Given the description of an element on the screen output the (x, y) to click on. 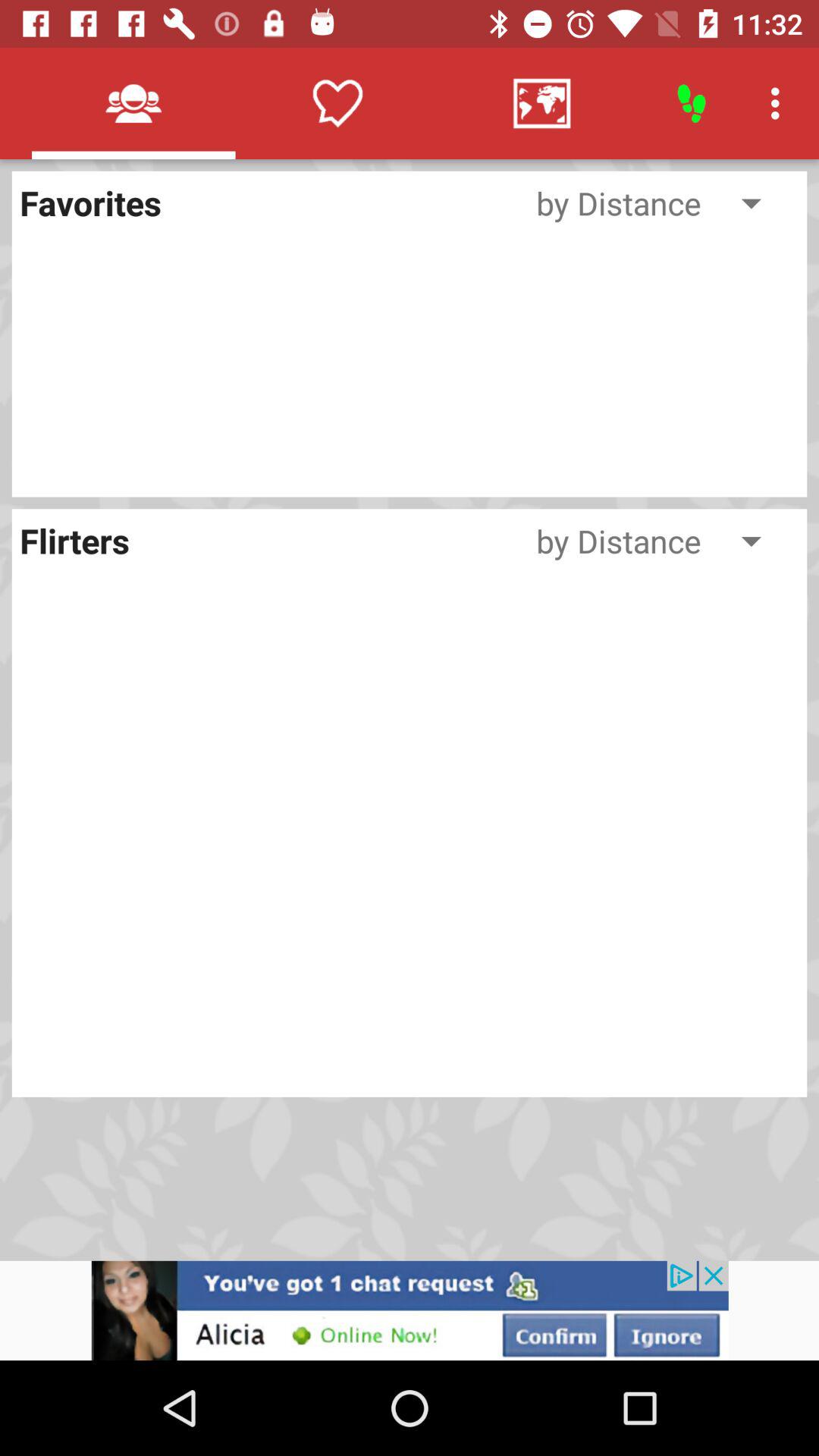
advertisement (409, 1310)
